Given the description of an element on the screen output the (x, y) to click on. 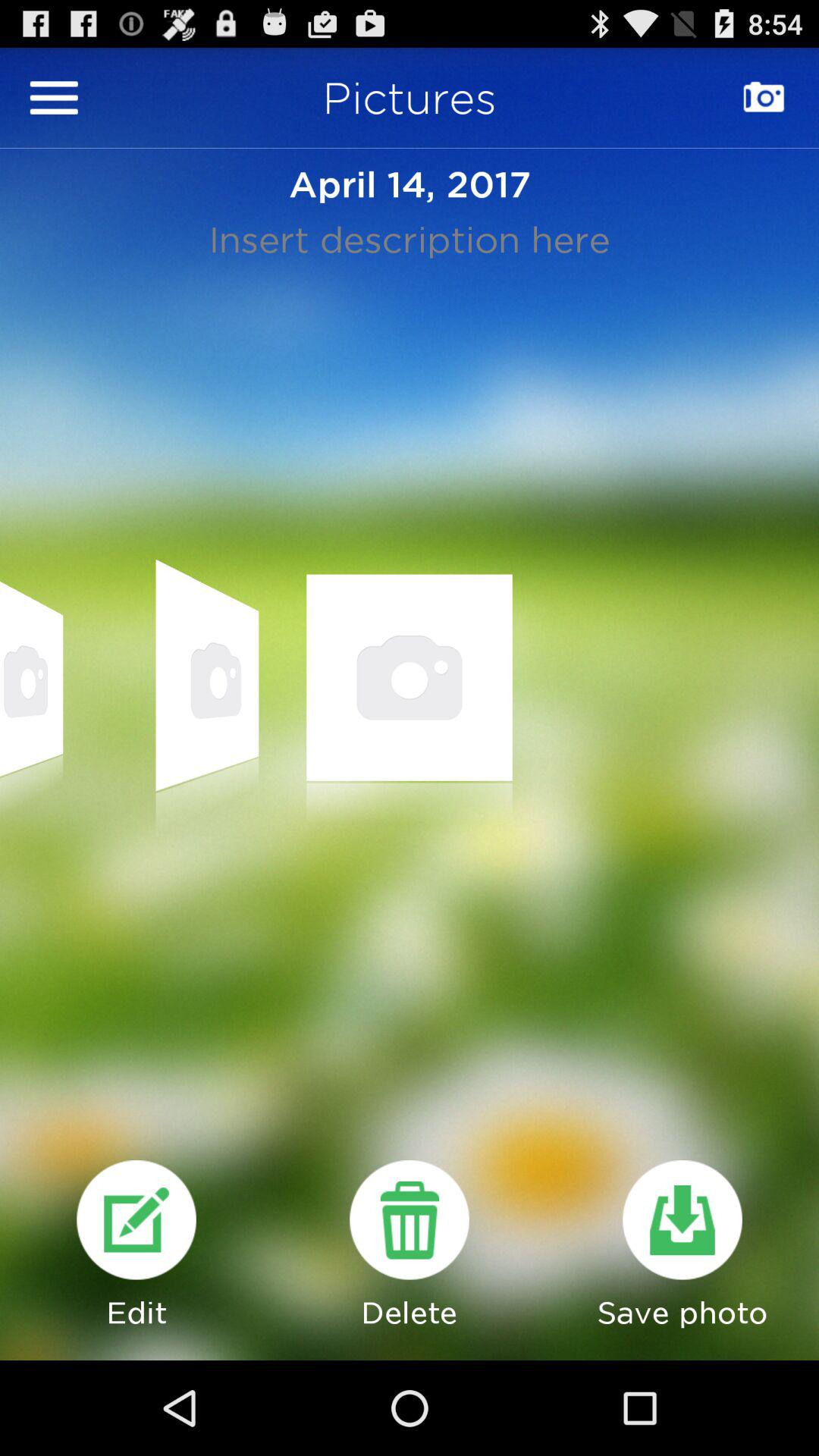
go to save photo (682, 1219)
